Given the description of an element on the screen output the (x, y) to click on. 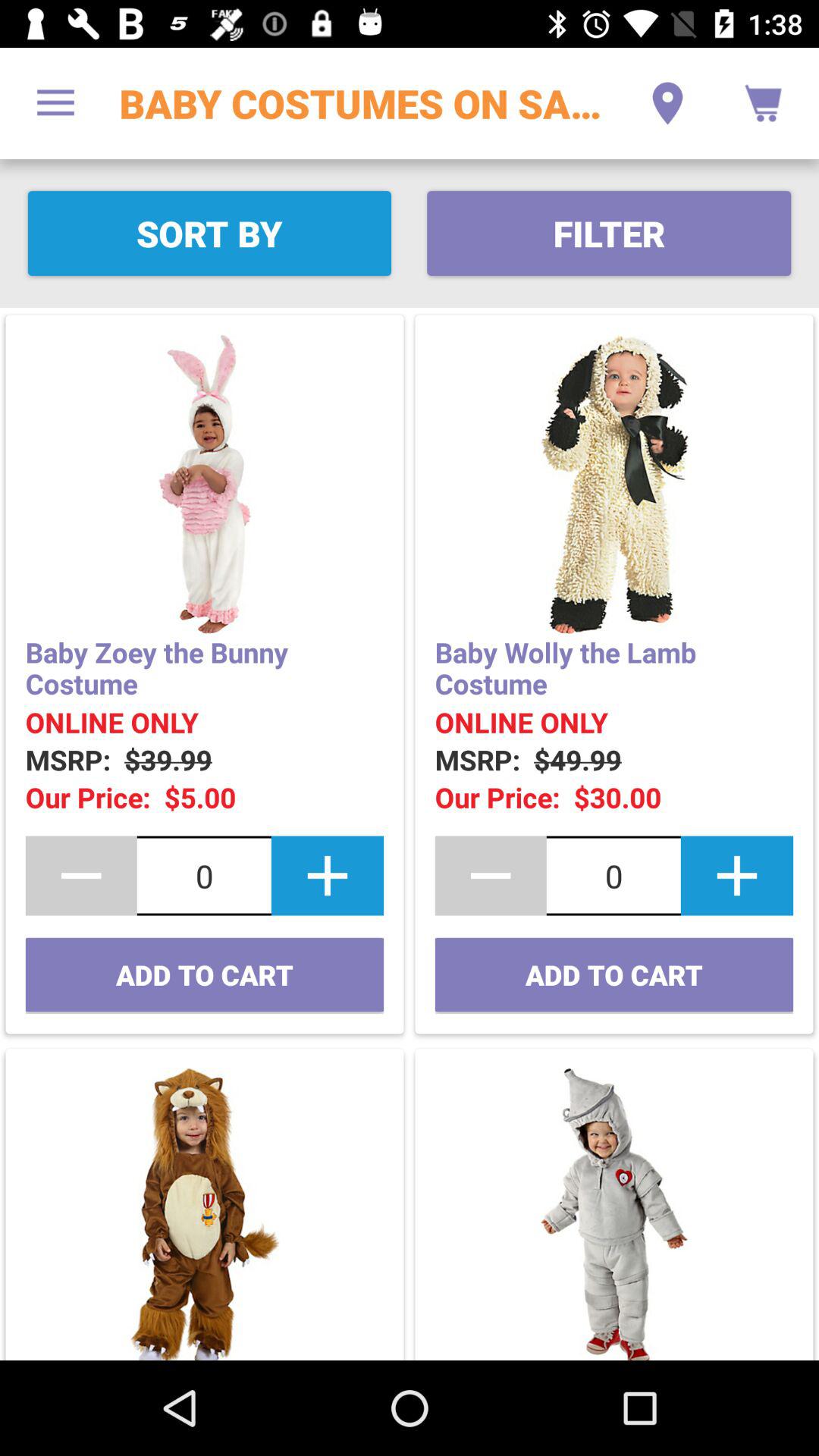
select the icon above filter (667, 103)
